Given the description of an element on the screen output the (x, y) to click on. 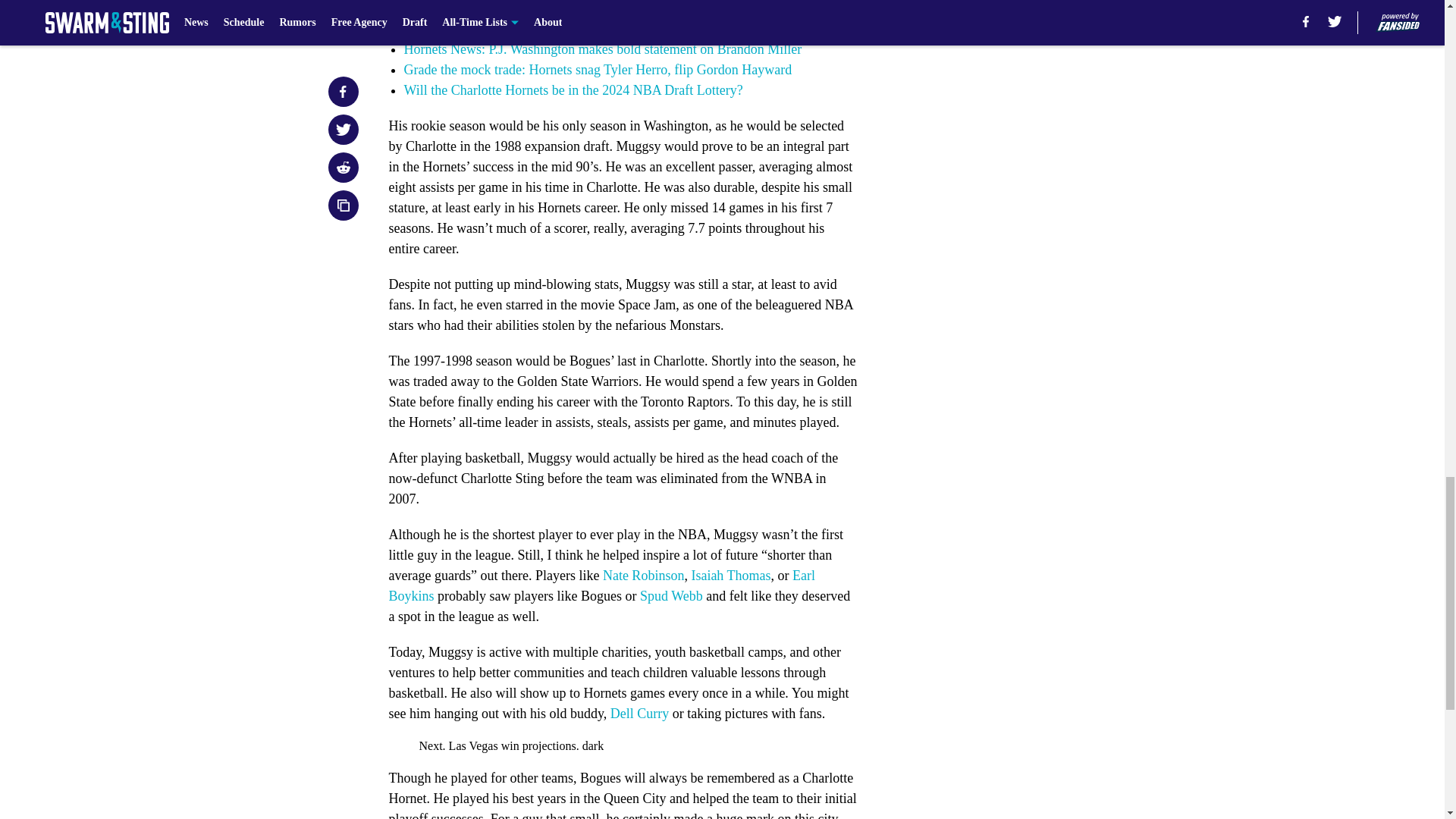
Nate Robinson (643, 575)
Will the Charlotte Hornets be in the 2024 NBA Draft Lottery? (572, 89)
Spud Webb (671, 595)
Dell Curry (639, 713)
Isaiah Thomas (730, 575)
Earl Boykins (601, 585)
